Given the description of an element on the screen output the (x, y) to click on. 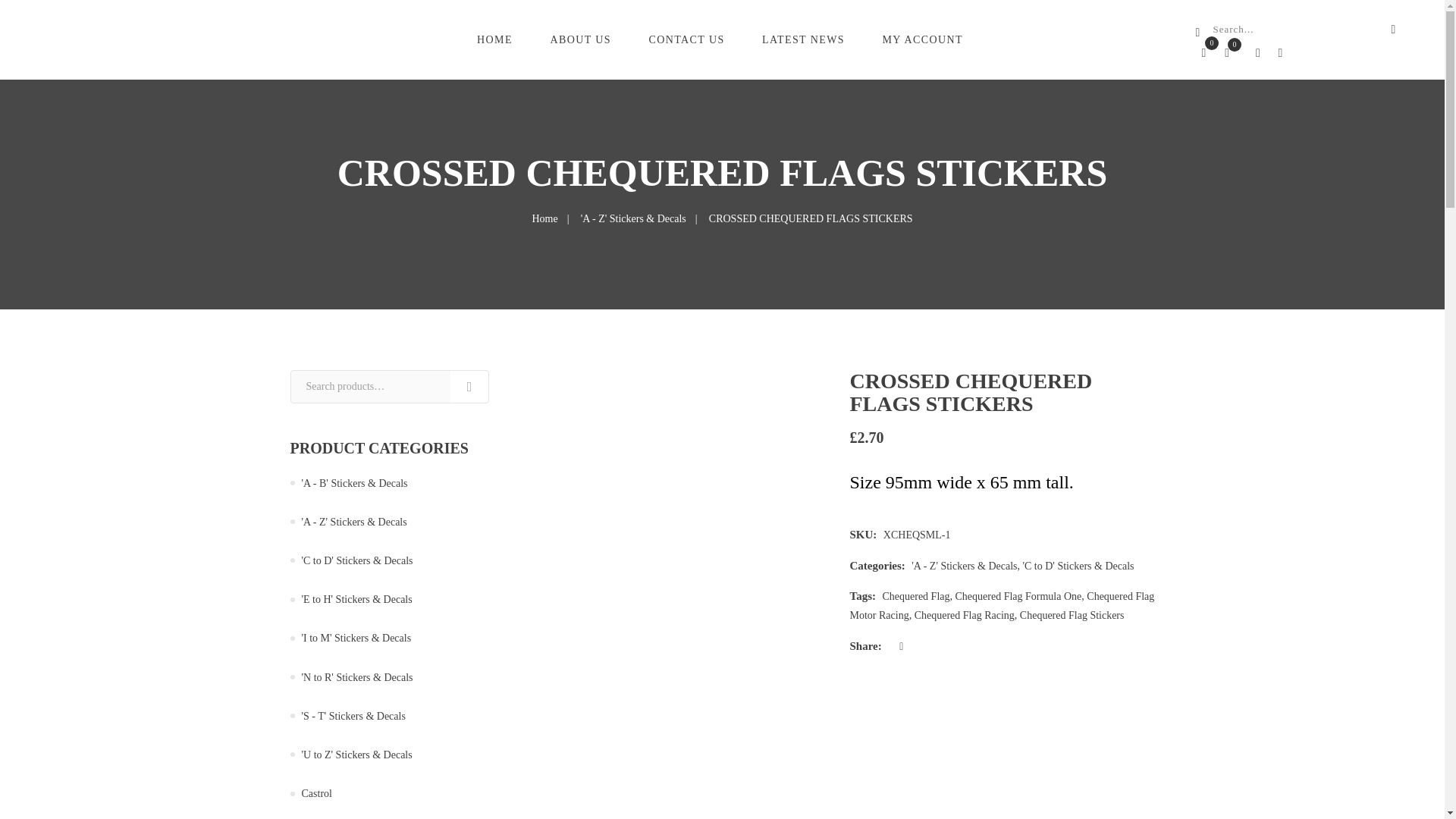
LATEST NEWS (805, 40)
ABOUT US (582, 40)
CONTACT US (688, 40)
Chequered Flag Racing (964, 614)
Chequered Flag Motor Racing (1001, 605)
Chequered Flag (915, 595)
Home (544, 218)
Chequered Flag Stickers (1072, 614)
Chequered Flag Formula One (1018, 595)
MY ACCOUNT (923, 40)
